Given the description of an element on the screen output the (x, y) to click on. 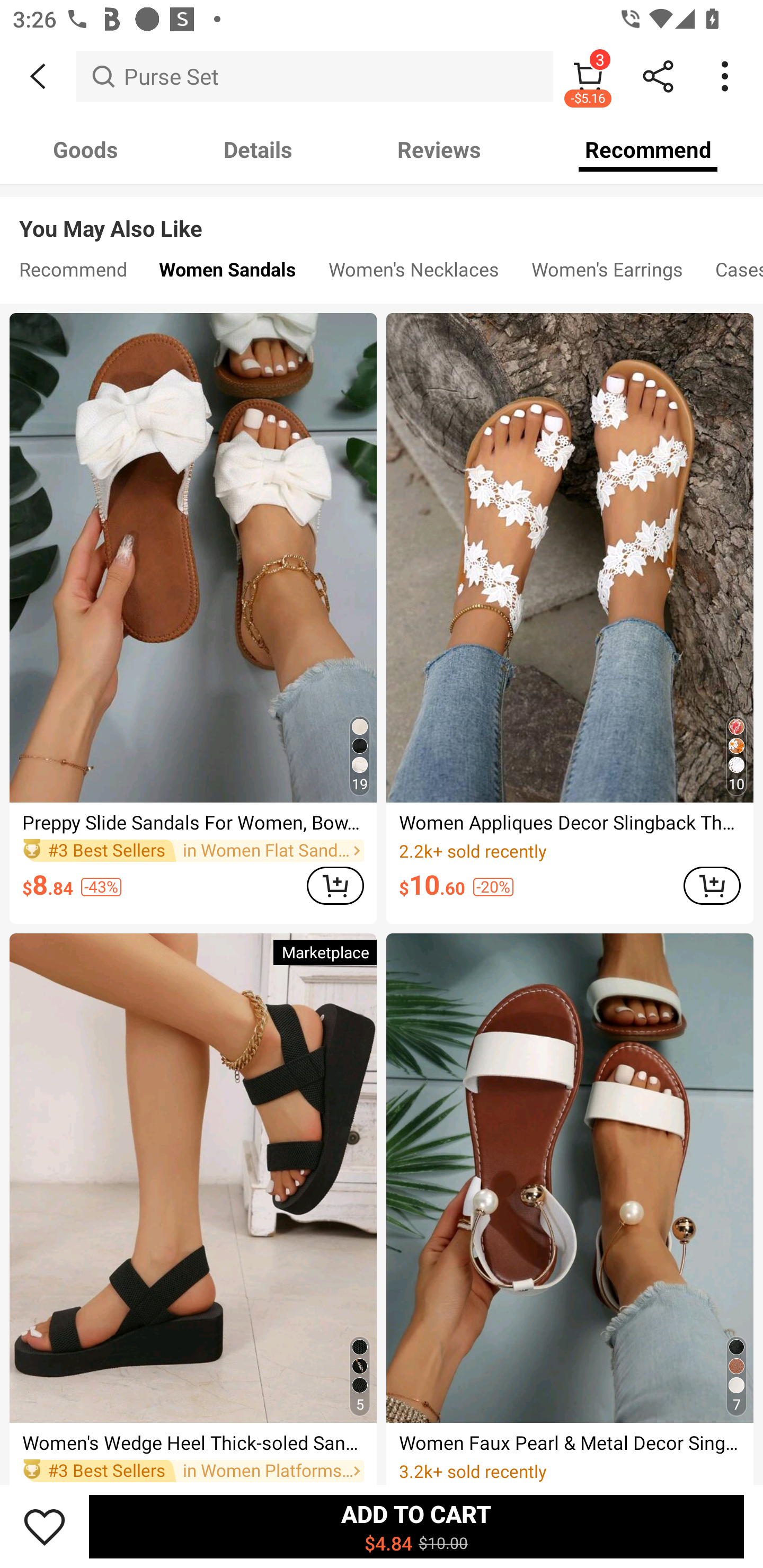
BACK (38, 75)
3 -$5.16 (588, 75)
Purse Set (314, 75)
Goods (85, 149)
Details (257, 149)
Reviews (439, 149)
Recommend (648, 149)
You May Also Like (381, 215)
Recommend (73, 273)
Women Sandals (227, 273)
Women's Necklaces (413, 273)
Women's Earrings (607, 273)
#3 Best Sellers in Women Flat Sandals (192, 850)
ADD TO CART (334, 885)
ADD TO CART (711, 885)
#3 Best Sellers in Women Platforms & Wedge Sandals (192, 1470)
ADD TO CART $4.84 $10.00 (416, 1526)
Save (44, 1526)
